Given the description of an element on the screen output the (x, y) to click on. 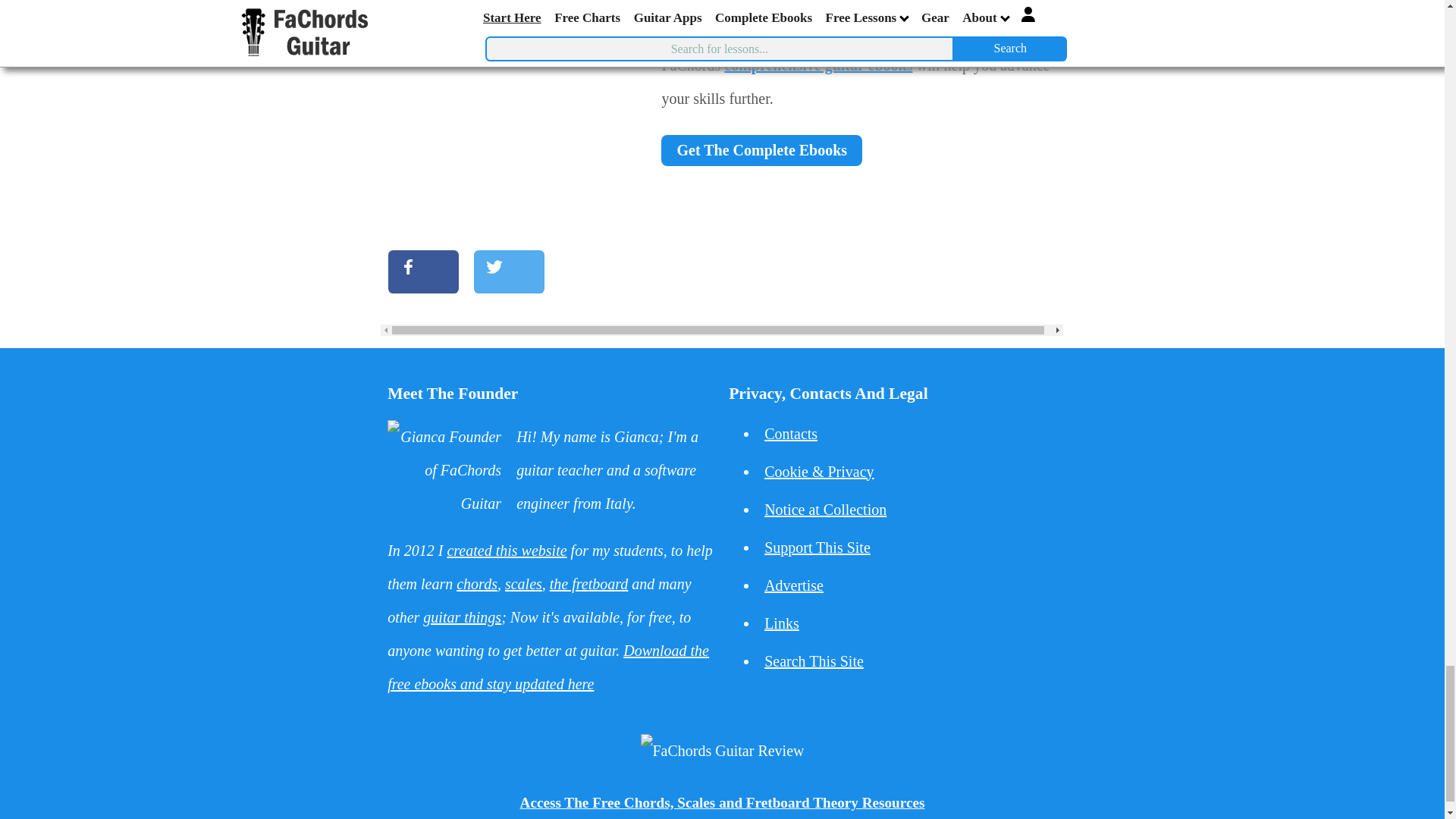
Share on Twitter (509, 271)
Share on Facebook (423, 271)
